Given the description of an element on the screen output the (x, y) to click on. 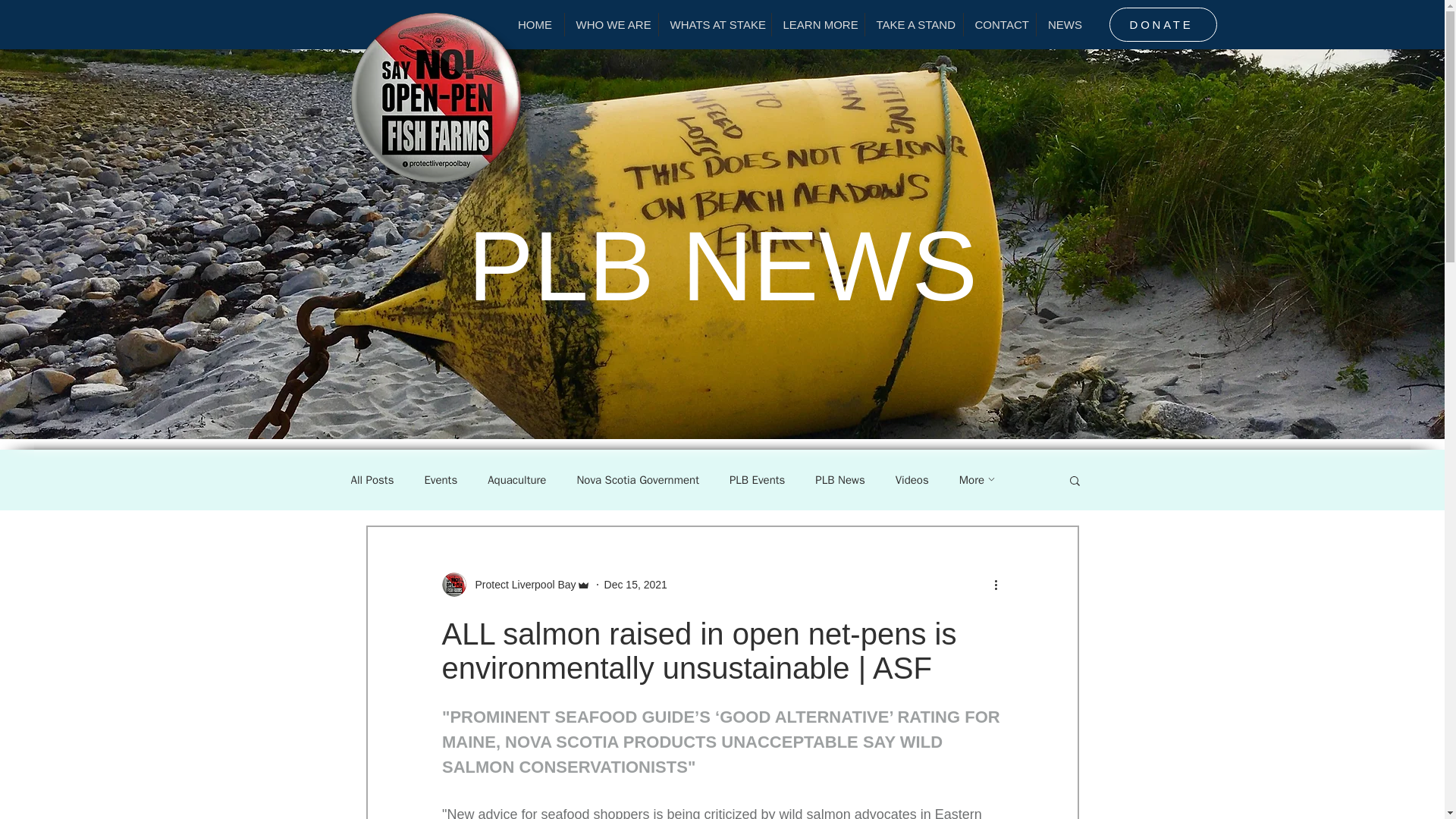
Nova Scotia Government (637, 480)
WHATS AT STAKE (714, 24)
Events (440, 480)
DONATE (1161, 24)
Button-Logo.JPG (434, 97)
Aquaculture (516, 480)
Videos (911, 480)
NEWS (1064, 24)
Protect Liverpool Bay (515, 584)
All Posts (371, 480)
